Given the description of an element on the screen output the (x, y) to click on. 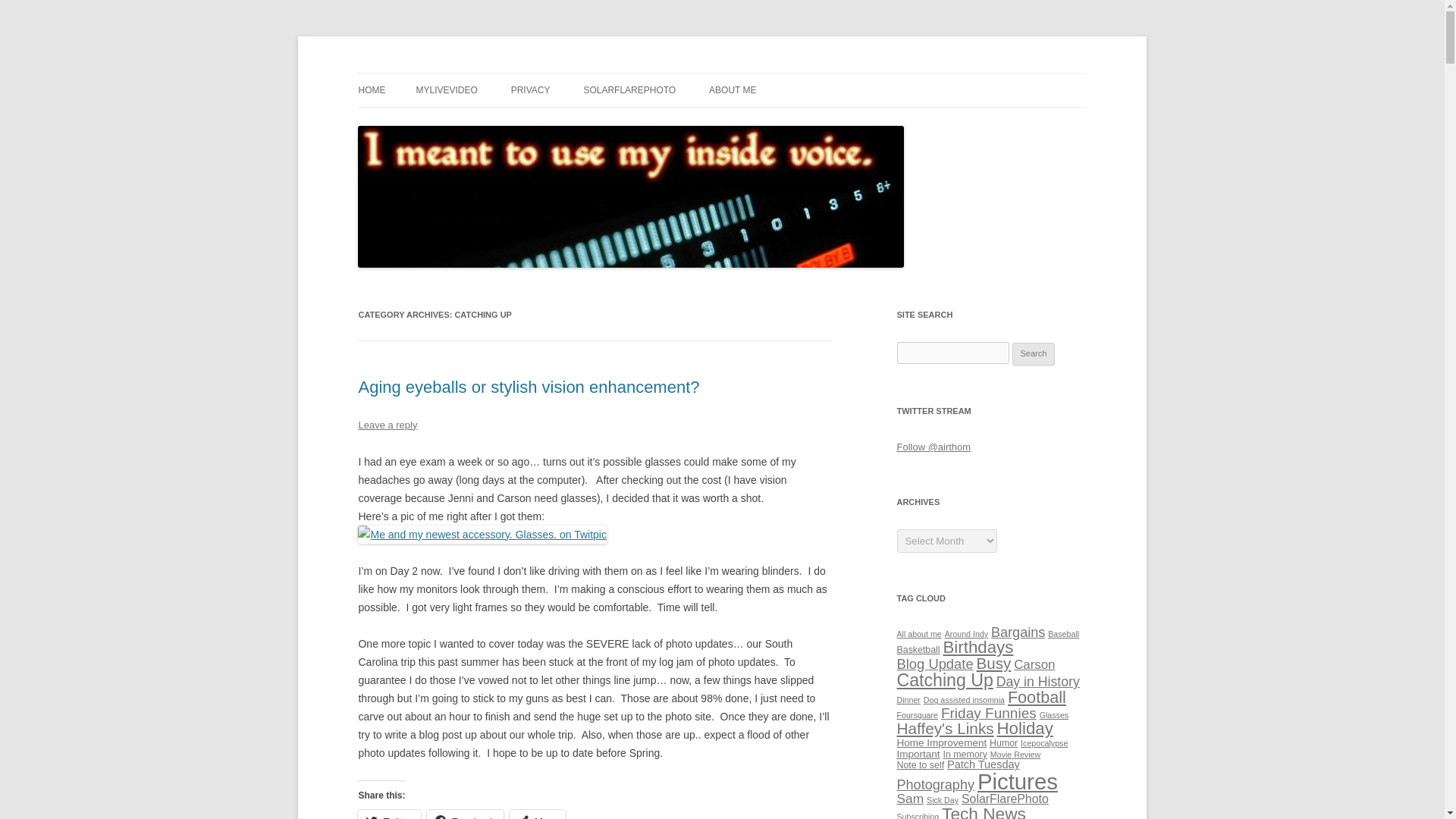
More (537, 814)
Facebook (464, 814)
SOLARFLAREPHOTO (629, 90)
Twitter (389, 814)
Leave a reply (387, 424)
PRIVACY (530, 90)
HOME (371, 90)
Me and my newest accessory. Glasses.  on Twitpic (482, 534)
MYLIVEVIDEO (445, 90)
Search (1033, 354)
Click to share on Twitter (389, 814)
Aging eyeballs or stylish vision enhancement? (528, 386)
ABOUT ME (732, 90)
Click to share on Facebook (464, 814)
